Given the description of an element on the screen output the (x, y) to click on. 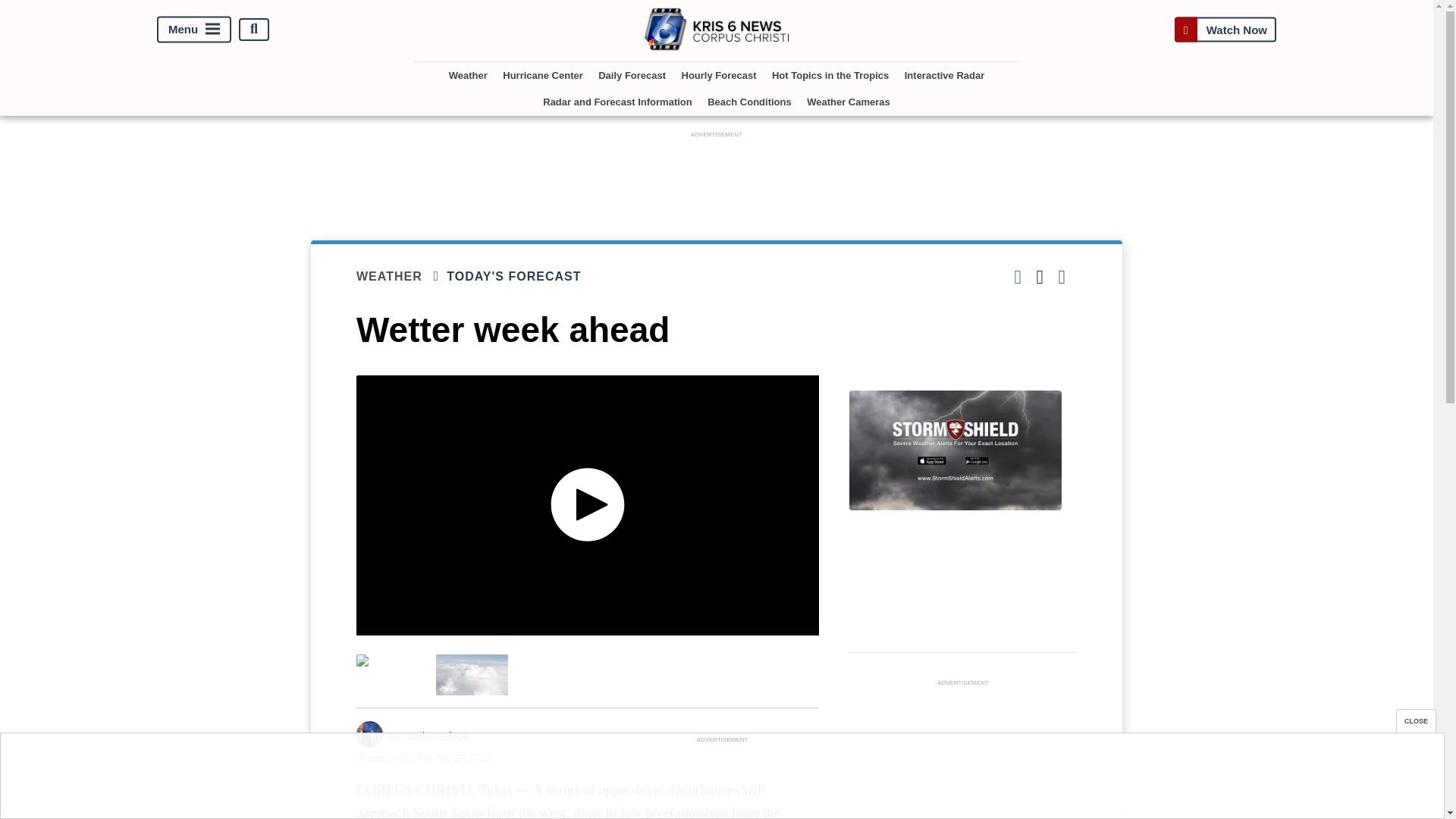
3rd party ad content (716, 175)
Menu (194, 28)
3rd party ad content (962, 754)
Watch Now (1224, 29)
3rd party ad content (721, 780)
